Given the description of an element on the screen output the (x, y) to click on. 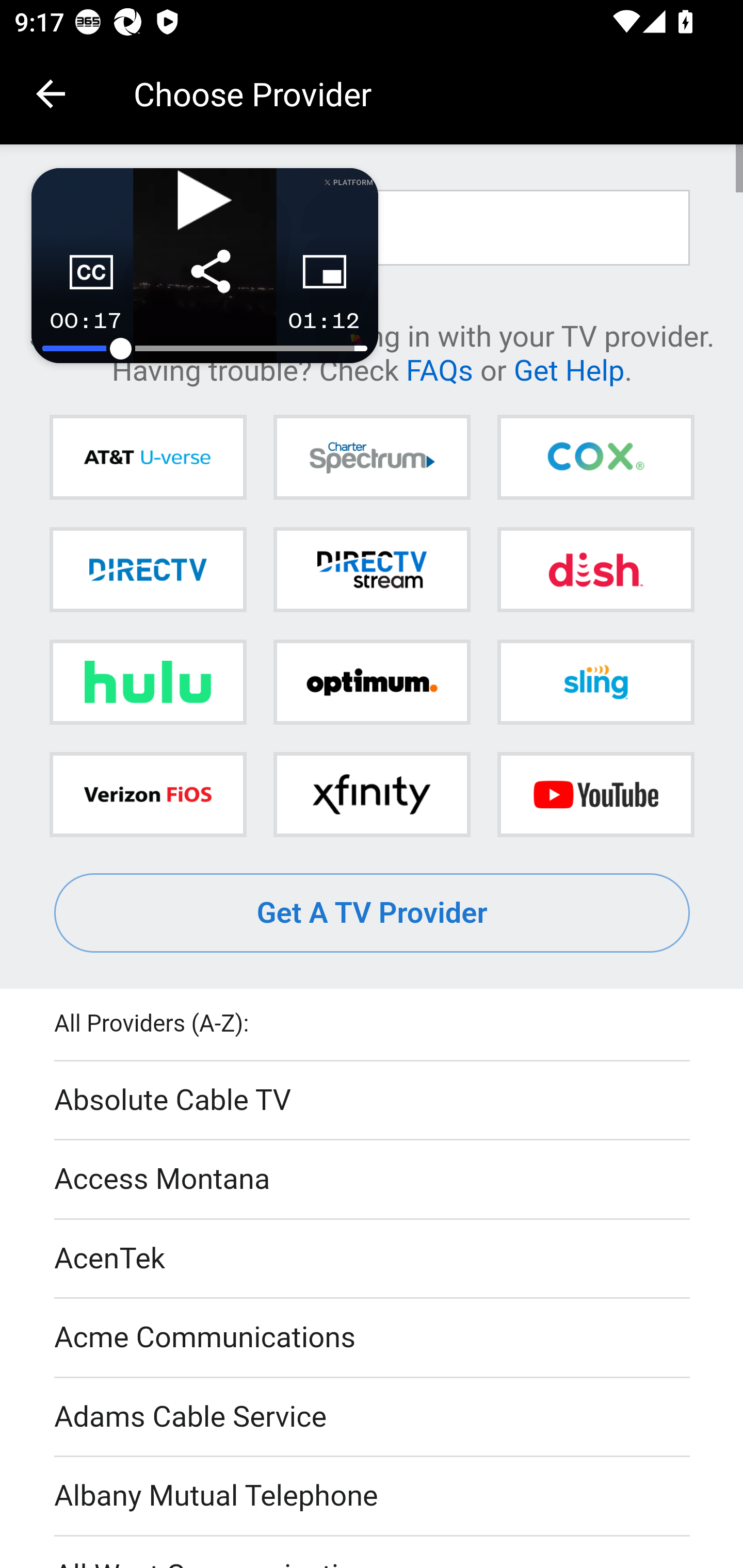
Navigate up (50, 93)
FAQs (438, 369)
Get Help (569, 369)
AT&T U-verse (147, 457)
Charter Spectrum (371, 457)
Cox (595, 457)
DIRECTV (147, 568)
DIRECTV STREAM (371, 568)
DISH (595, 568)
Hulu (147, 681)
Optimum (371, 681)
Sling TV (595, 681)
Verizon FiOS (147, 793)
Xfinity (371, 793)
YouTube TV (595, 793)
Get A TV Provider (372, 912)
Absolute Cable TV (372, 1100)
Access Montana (372, 1178)
AcenTek (372, 1258)
Acme Communications (372, 1338)
Adams Cable Service (372, 1417)
Albany Mutual Telephone (372, 1497)
